Given the description of an element on the screen output the (x, y) to click on. 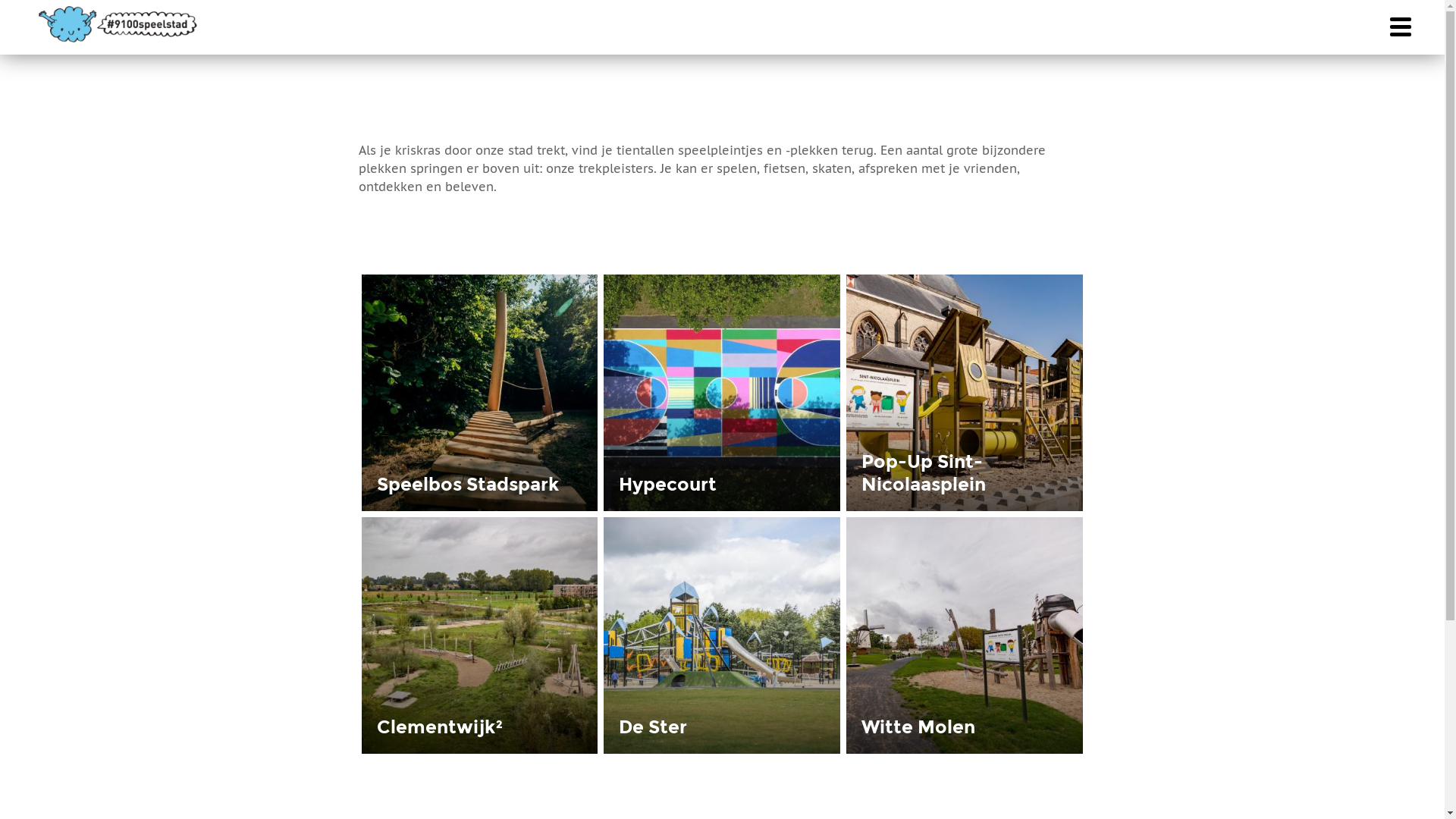
Home Element type: hover (119, 24)
Trekpleisters Element type: text (282, 27)
Speelbos Stadspark Element type: text (467, 484)
Pop-Up Sint-Nicolaasplein Element type: text (923, 472)
De Ster Element type: text (652, 726)
Hypecourt Element type: text (667, 484)
Witte Molen Element type: text (918, 726)
